Given the description of an element on the screen output the (x, y) to click on. 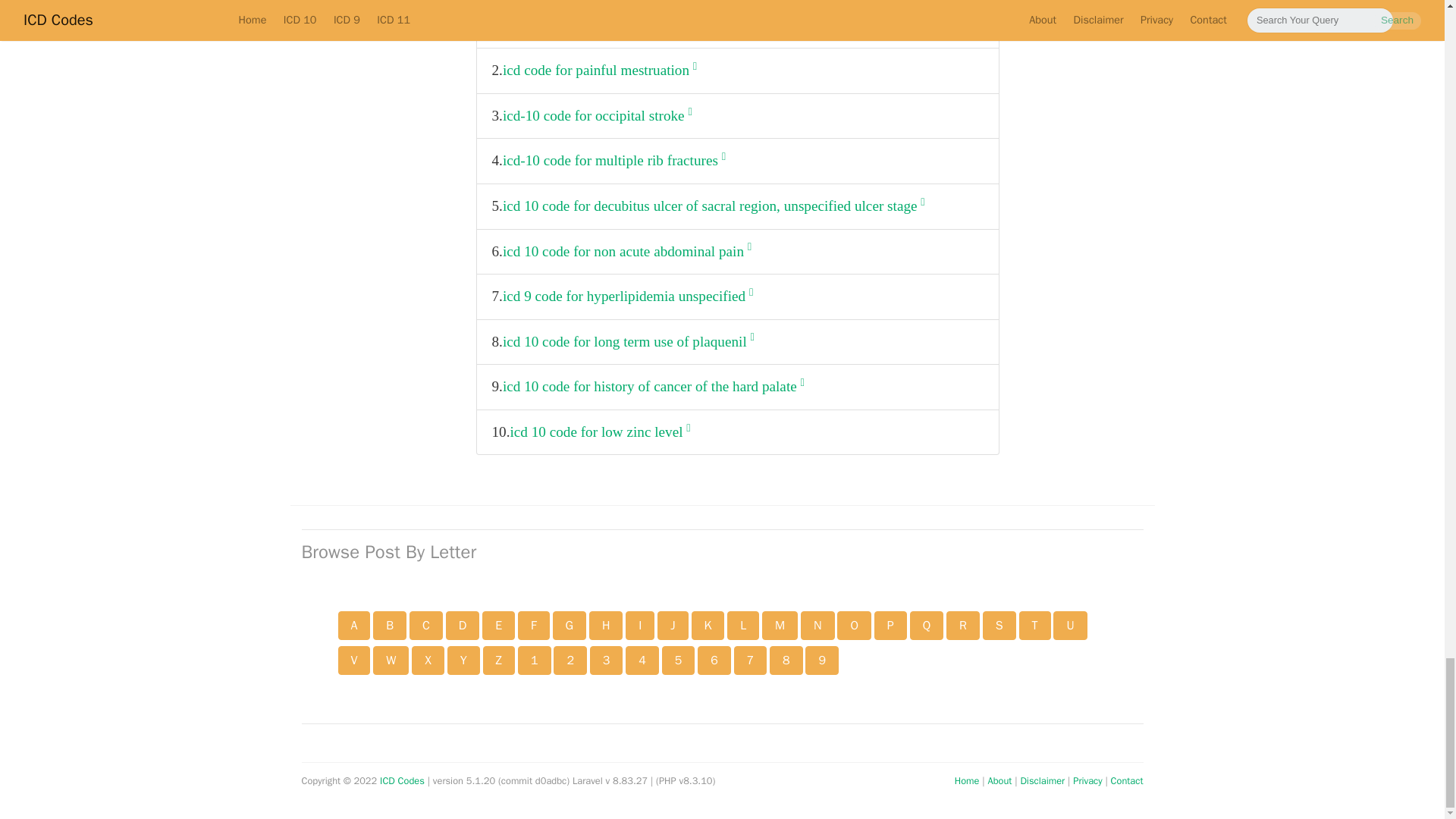
L (742, 624)
icd-10 code for multiple rib fractures (613, 161)
M (779, 624)
icd code for painful mestruation (599, 70)
icd 10 code for history of cancer of the hard palate (653, 386)
H (606, 624)
icd 10 code for history of cancer of the hard palate (653, 386)
N (817, 624)
J (672, 624)
